Given the description of an element on the screen output the (x, y) to click on. 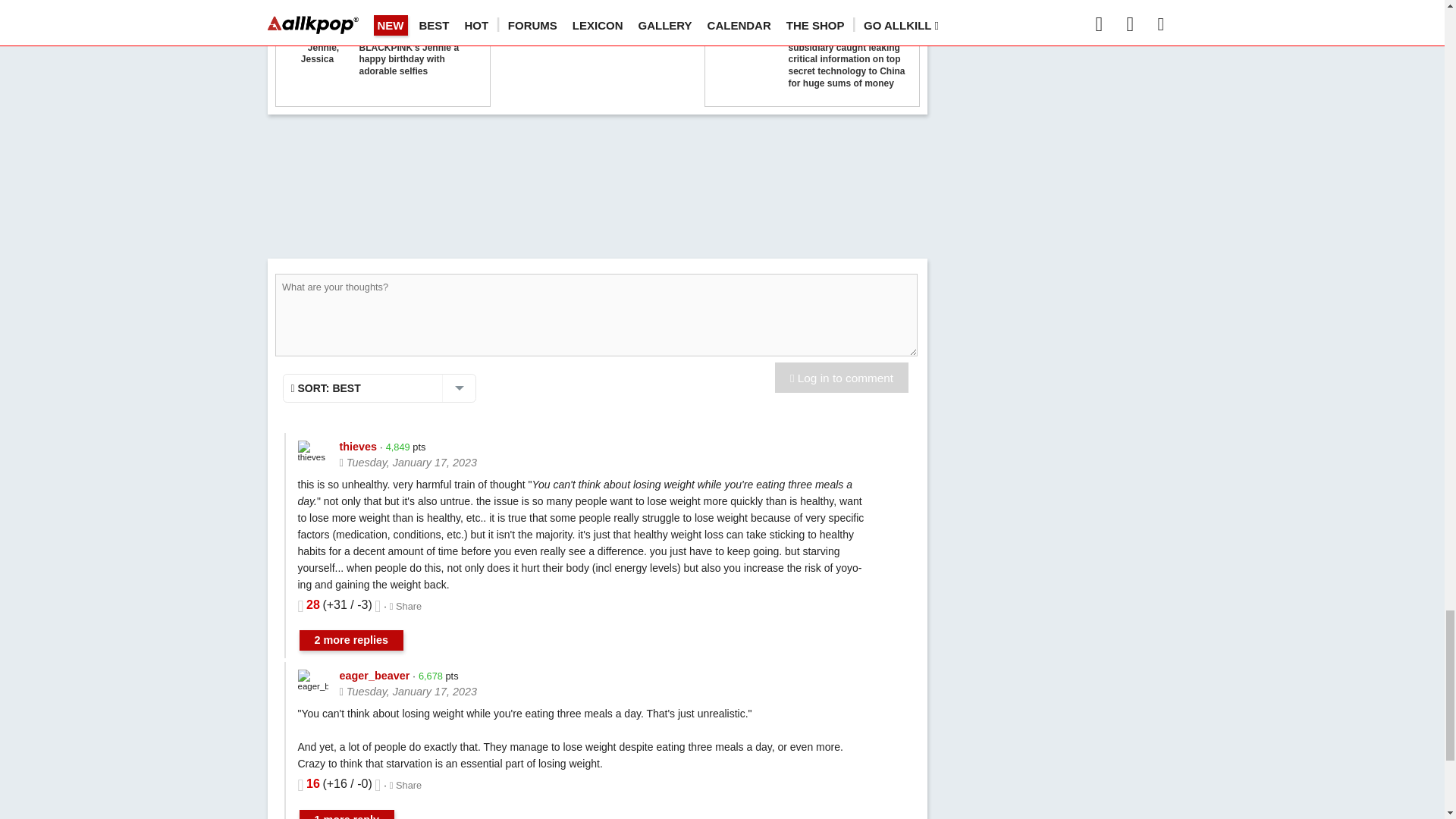
thieves (312, 450)
BLACKPINK, Jennie, Jessica (317, 53)
Buzz (746, 53)
